Given the description of an element on the screen output the (x, y) to click on. 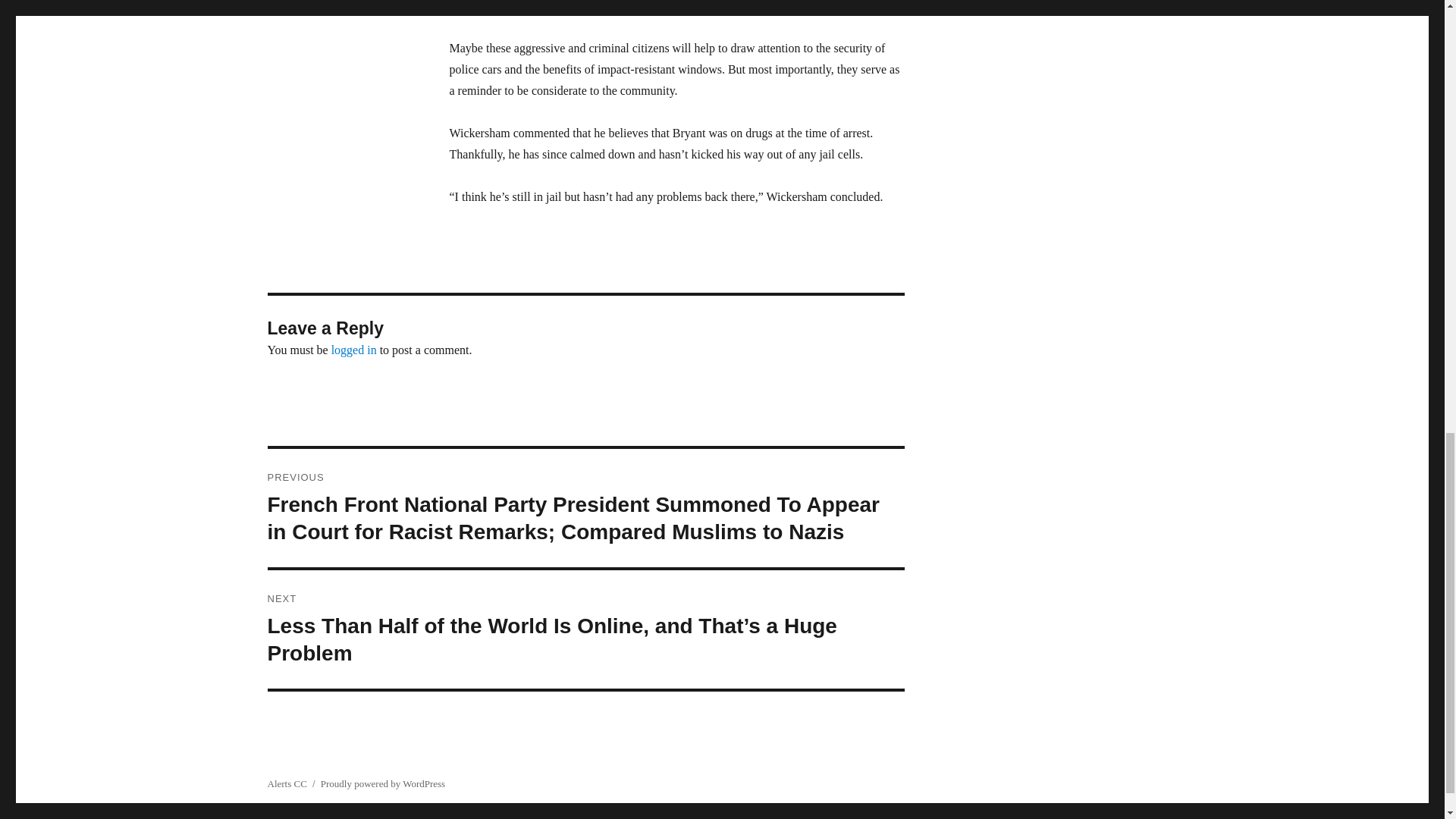
logged in (354, 349)
Alerts CC (285, 783)
Proudly powered by WordPress (382, 783)
